Given the description of an element on the screen output the (x, y) to click on. 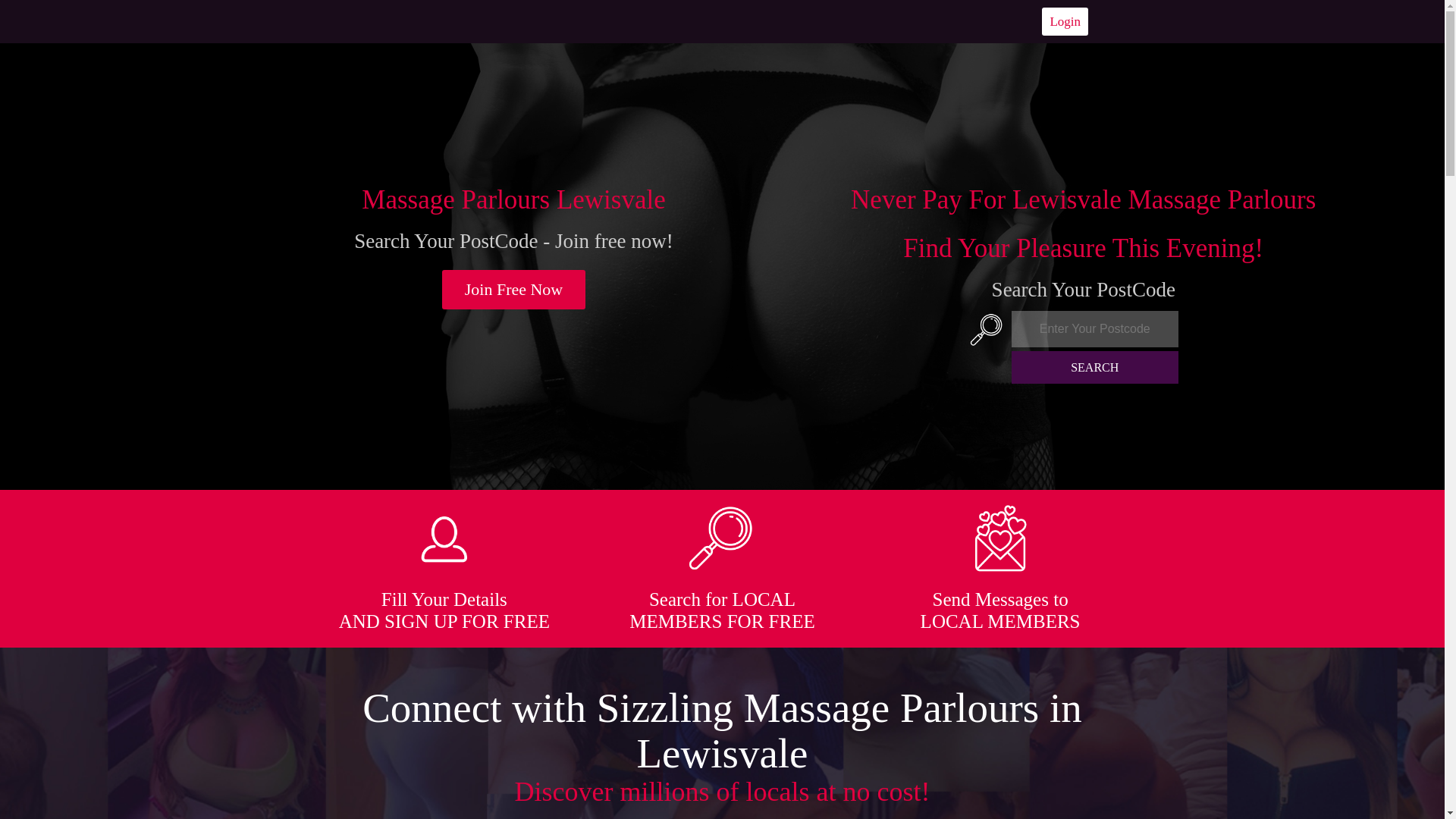
Login (1064, 21)
Join Free Now (514, 289)
Login (1064, 21)
SEARCH (1094, 367)
Join (514, 289)
